Given the description of an element on the screen output the (x, y) to click on. 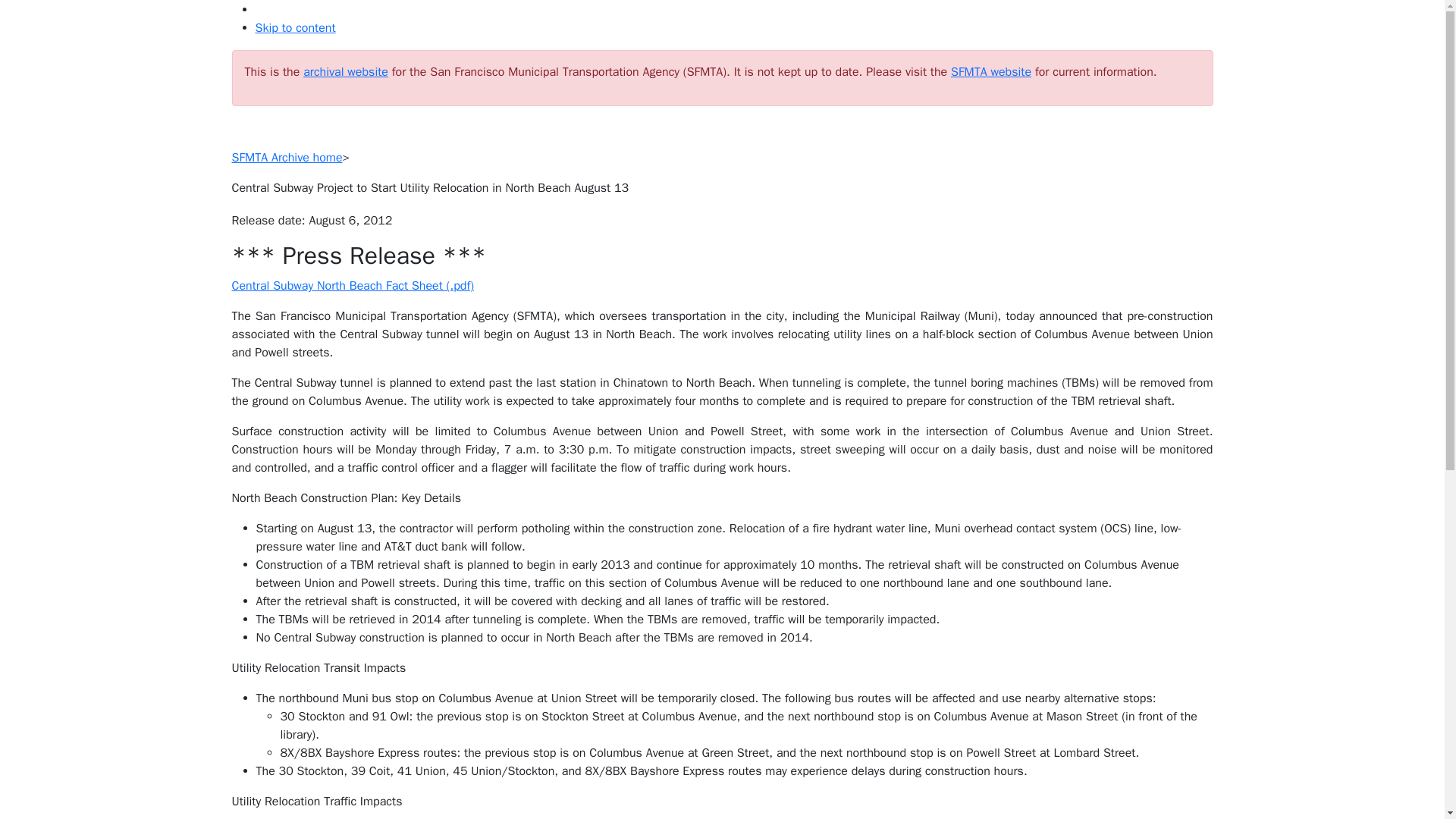
archival website (345, 71)
SFMTA Archive home (286, 157)
SFMTA website (990, 71)
Skip to content (294, 28)
